Given the description of an element on the screen output the (x, y) to click on. 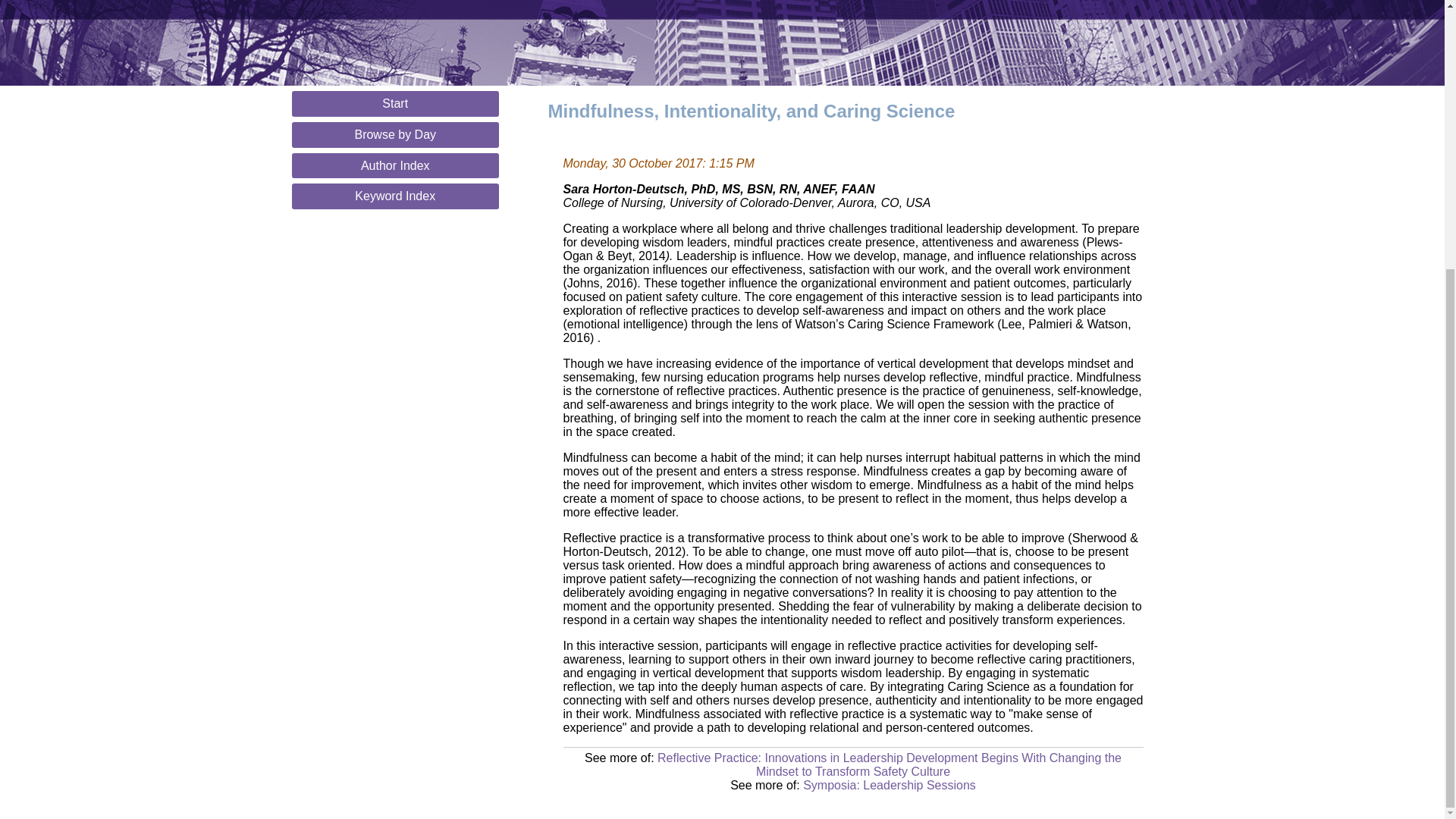
Browse by Day (395, 135)
Symposia: Leadership Sessions (889, 784)
Keyword Index (395, 196)
Start (395, 103)
Author Index (395, 165)
